Given the description of an element on the screen output the (x, y) to click on. 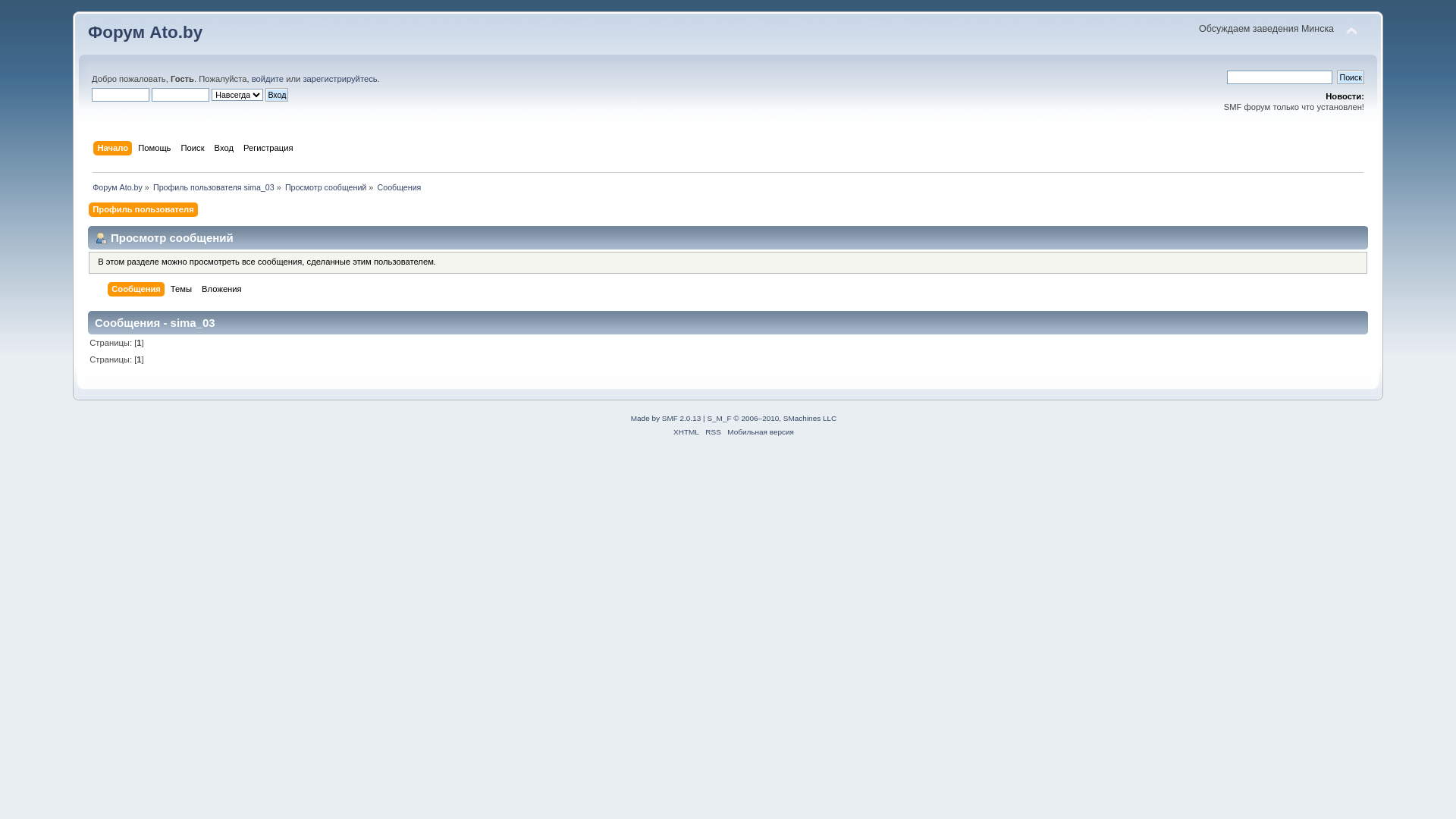
RSS Element type: text (713, 431)
Made by SMF 2.0.13 Element type: text (665, 418)
XHTML Element type: text (686, 431)
